Given the description of an element on the screen output the (x, y) to click on. 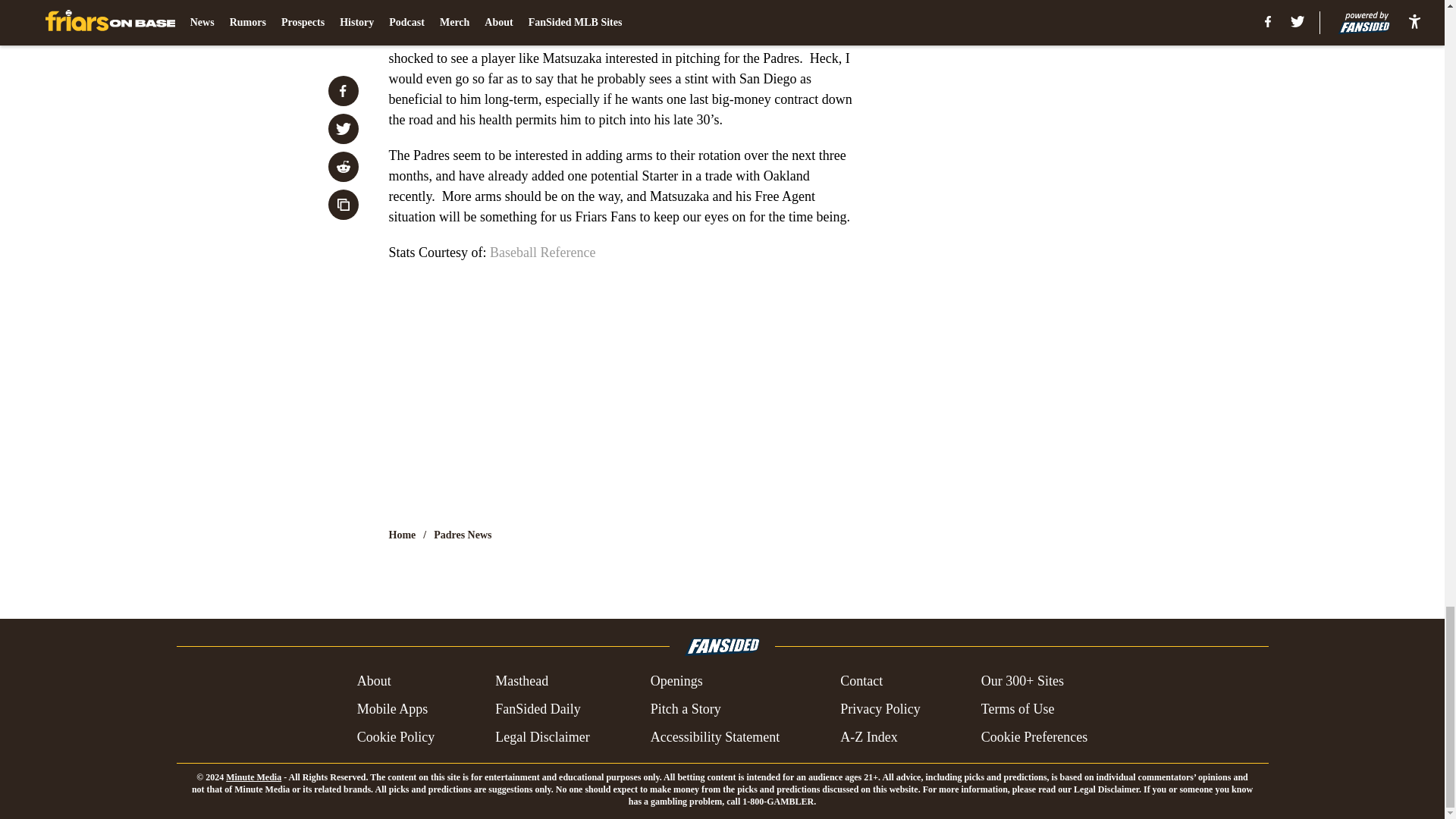
About (373, 680)
Masthead (521, 680)
FanSided Daily (537, 709)
Padres News (462, 534)
Privacy Policy (880, 709)
Home (401, 534)
Openings (676, 680)
Contact (861, 680)
Pitch a Story (685, 709)
Mobile Apps (392, 709)
Baseball Reference (542, 252)
